Given the description of an element on the screen output the (x, y) to click on. 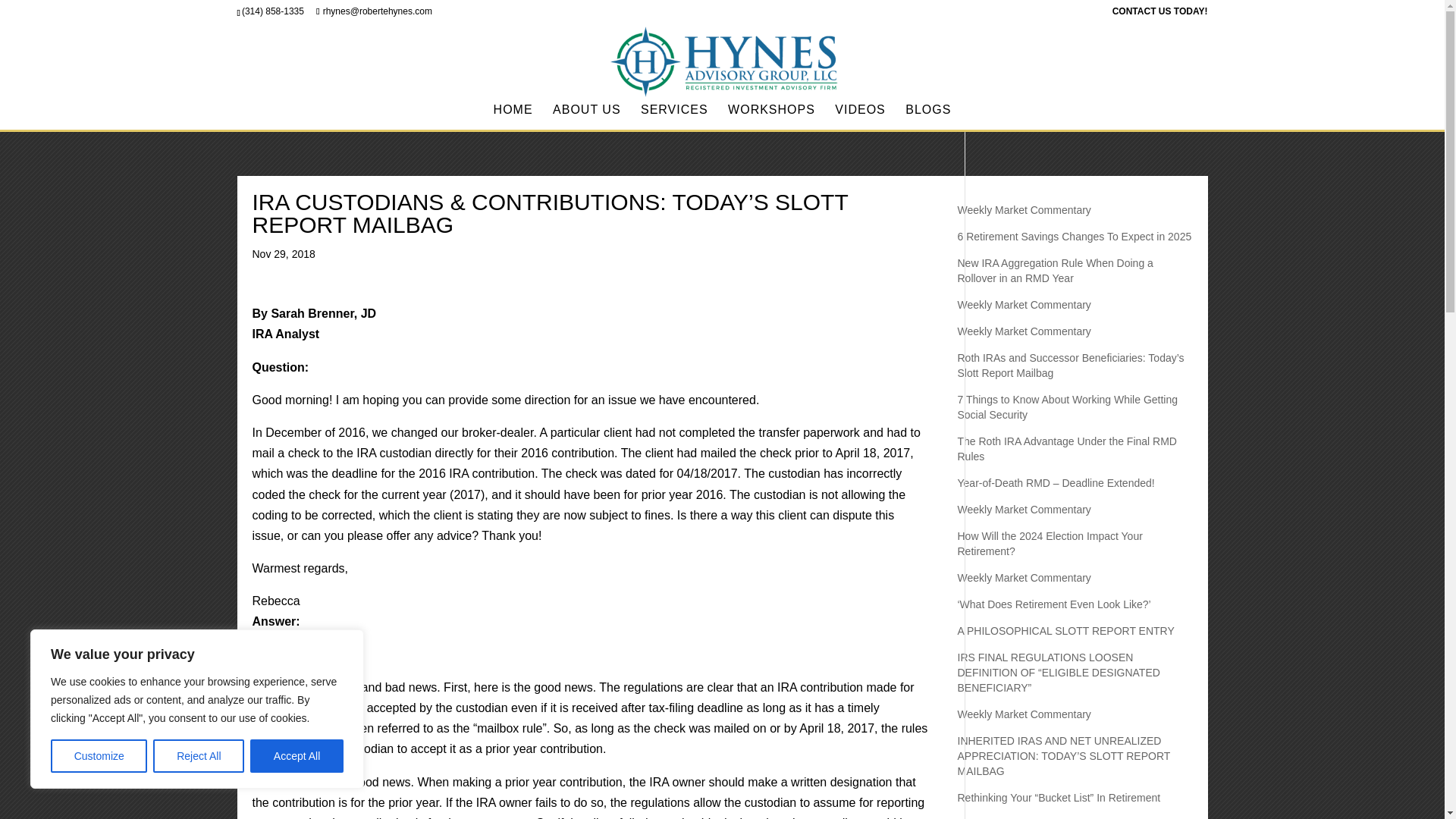
WORKSHOPS (771, 116)
Customize (98, 756)
BLOGS (927, 116)
6 Retirement Savings Changes To Expect in 2025 (1073, 236)
Accept All (296, 756)
SERVICES (673, 116)
Weekly Market Commentary (1023, 304)
Weekly Market Commentary (1023, 331)
Weekly Market Commentary (1023, 209)
ABOUT US (587, 116)
